Given the description of an element on the screen output the (x, y) to click on. 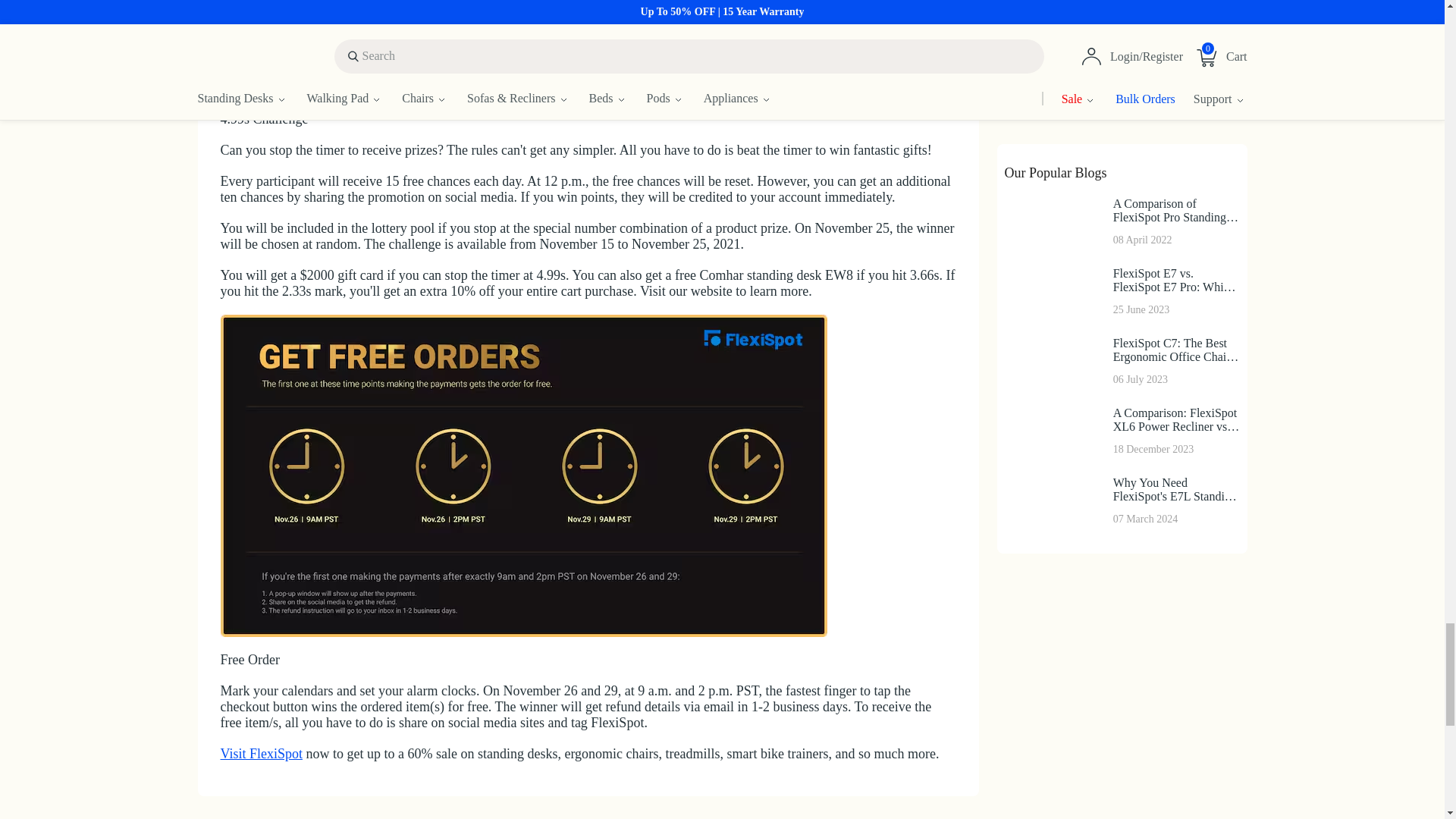
4.99s Challenge (523, 48)
Visit FlexiSpot (260, 753)
